Given the description of an element on the screen output the (x, y) to click on. 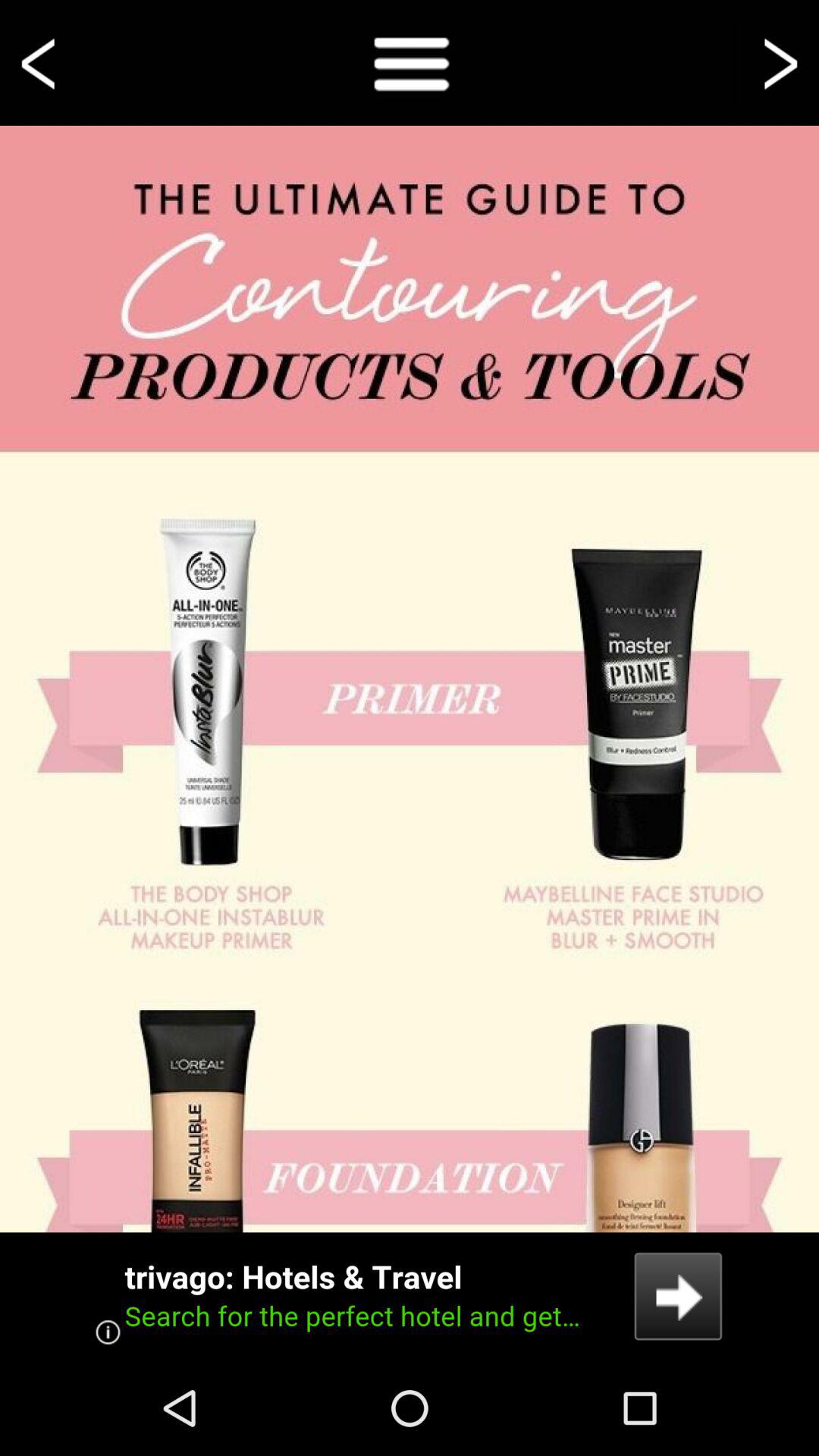
return to the previous screen (40, 62)
